Given the description of an element on the screen output the (x, y) to click on. 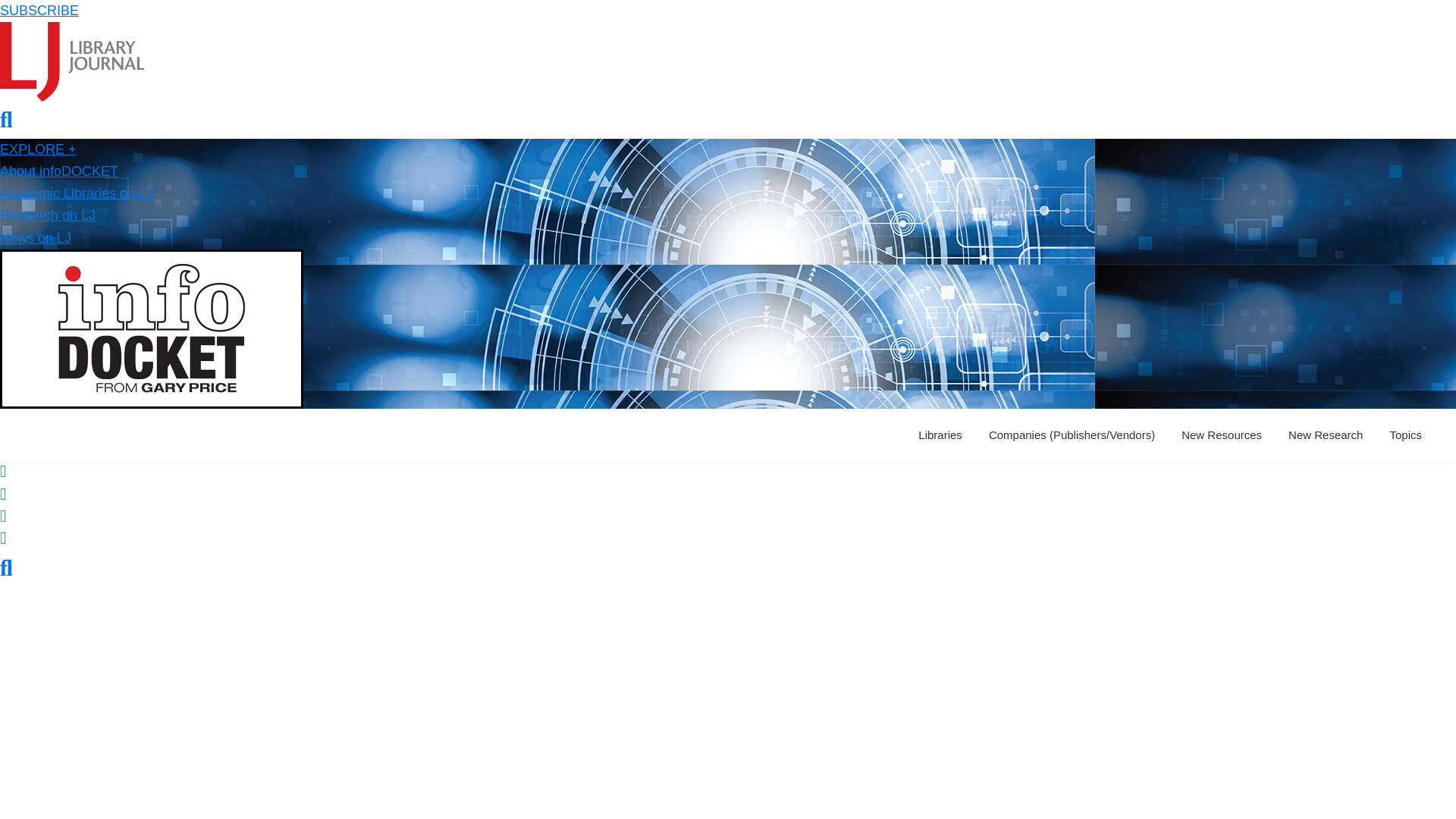
About infoDOCKET (58, 171)
New Resources (1221, 434)
Research on LJ (48, 215)
Academic Libraries on LJ (76, 192)
Libraries (940, 434)
SUBSCRIBE (39, 10)
News on LJ (35, 237)
New Research (1325, 434)
